Given the description of an element on the screen output the (x, y) to click on. 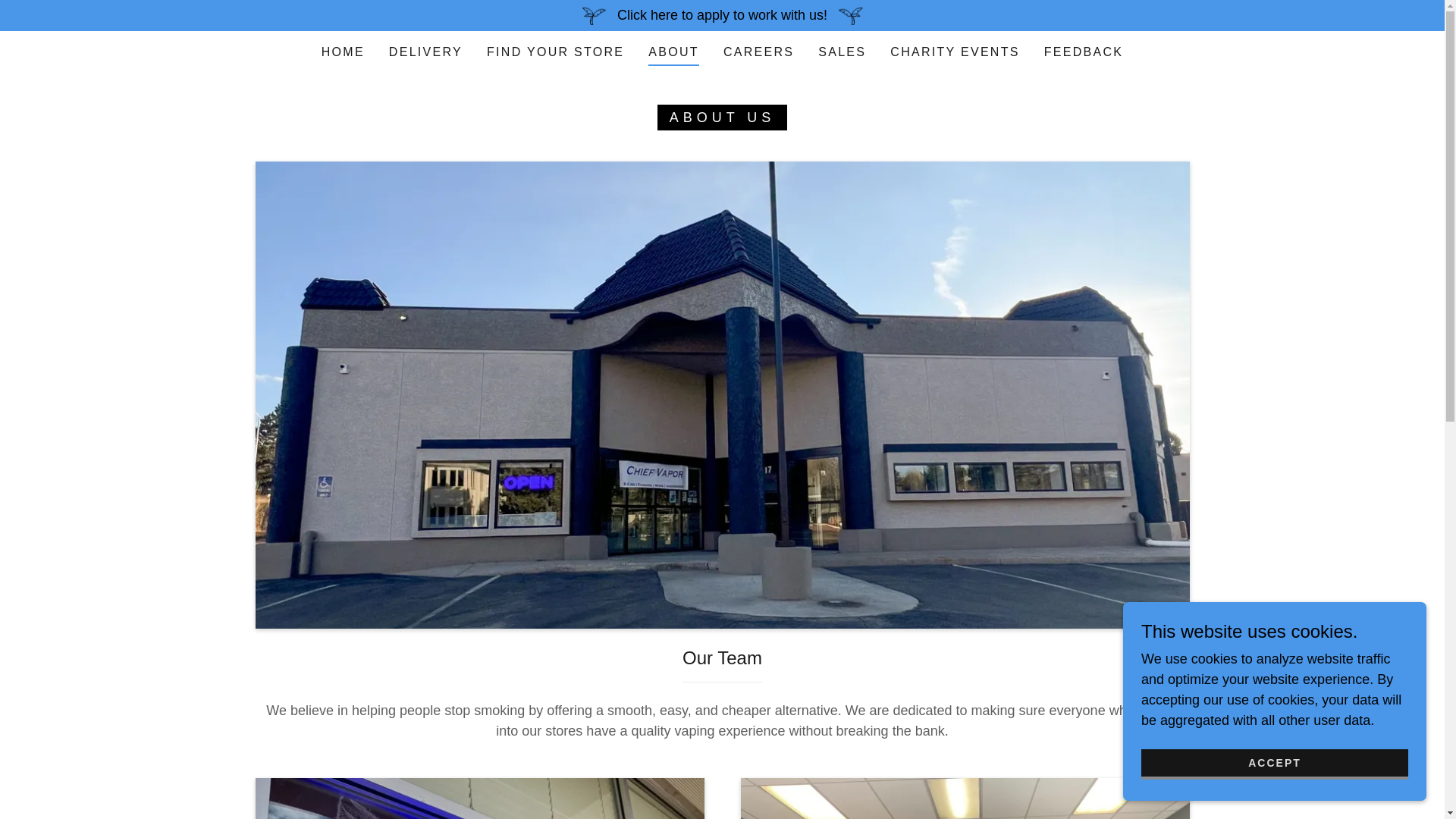
SALES (841, 52)
FEEDBACK (1083, 52)
CAREERS (758, 52)
DELIVERY (425, 52)
FIND YOUR STORE (554, 52)
HOME (343, 52)
ABOUT (672, 54)
ACCEPT (1274, 764)
CHARITY EVENTS (954, 52)
